Given the description of an element on the screen output the (x, y) to click on. 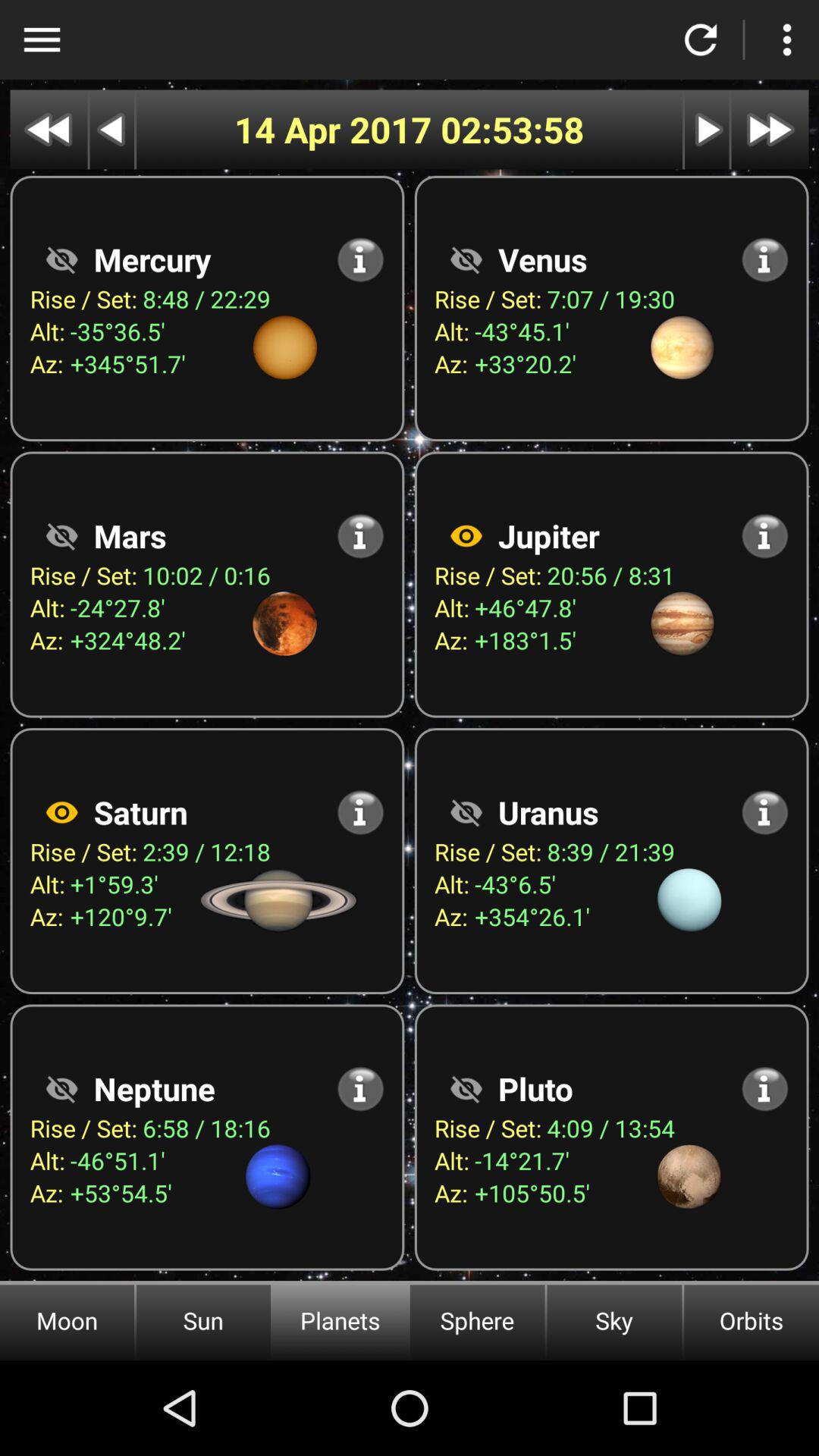
previous day link (111, 129)
